Given the description of an element on the screen output the (x, y) to click on. 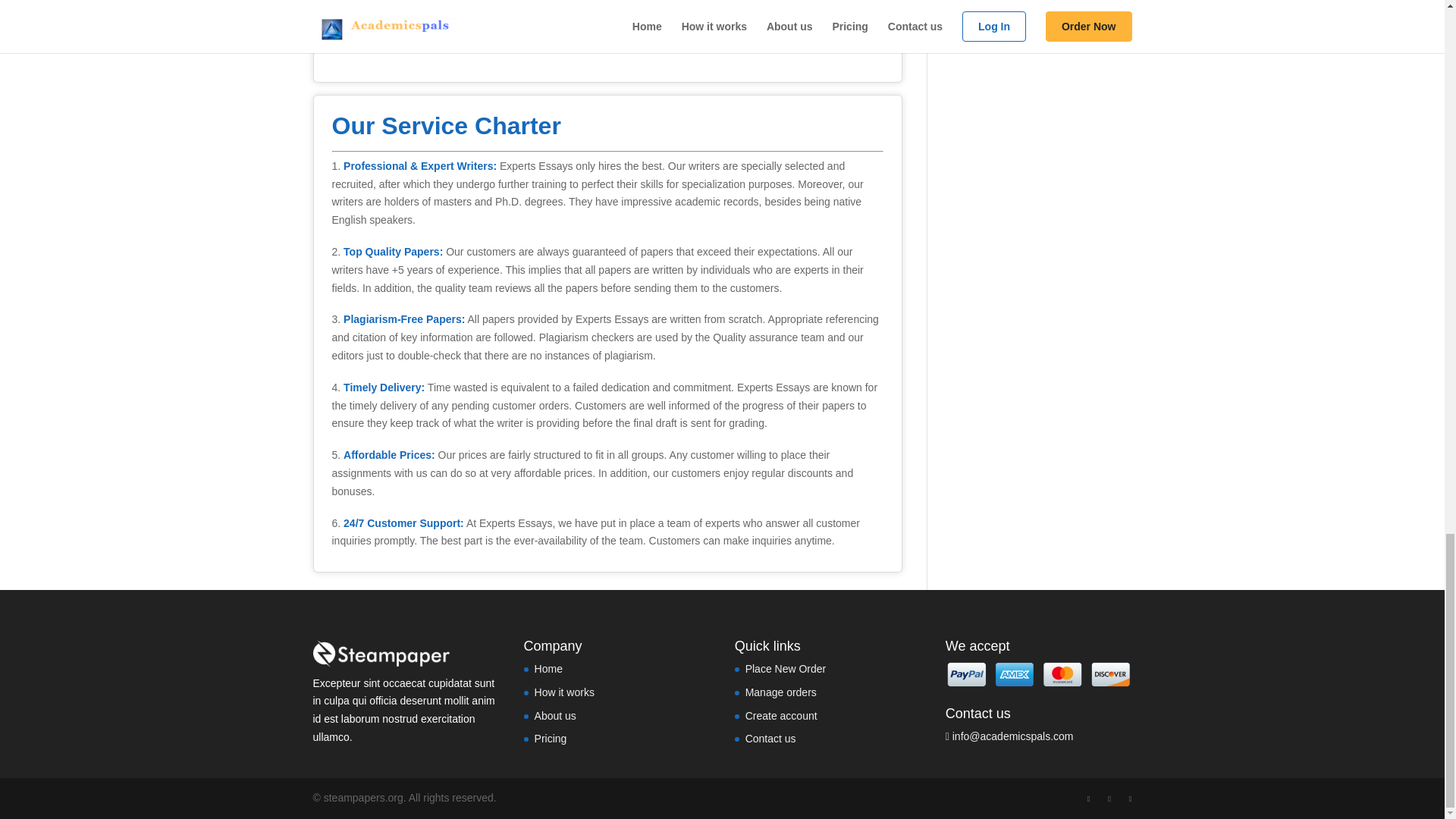
Contact us (770, 738)
How it works (564, 692)
Place New Order (786, 668)
About us (555, 715)
Home (548, 668)
Pricing (550, 738)
Create account (780, 715)
Manage orders (780, 692)
